Given the description of an element on the screen output the (x, y) to click on. 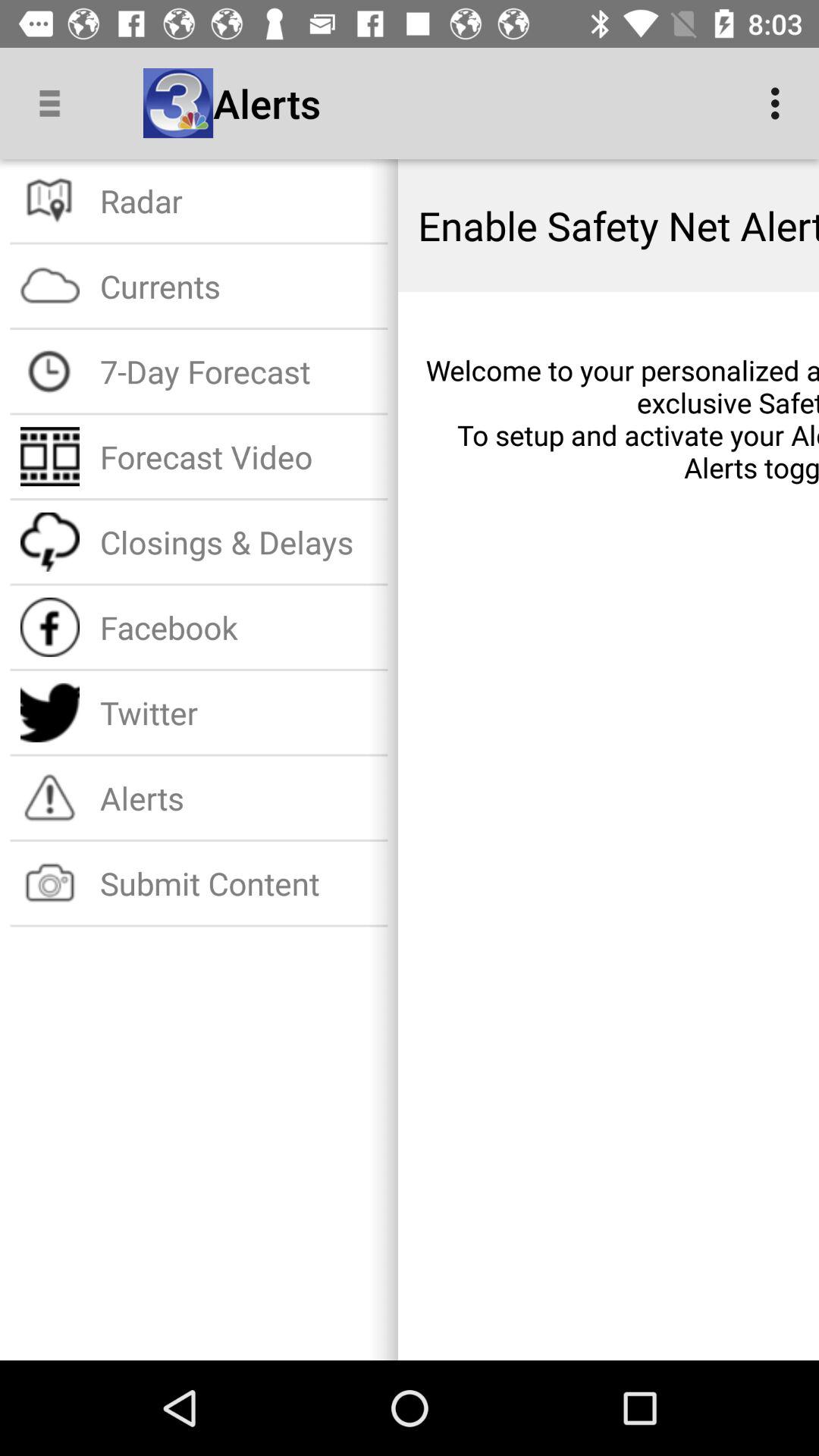
swipe to the submit content (238, 882)
